Given the description of an element on the screen output the (x, y) to click on. 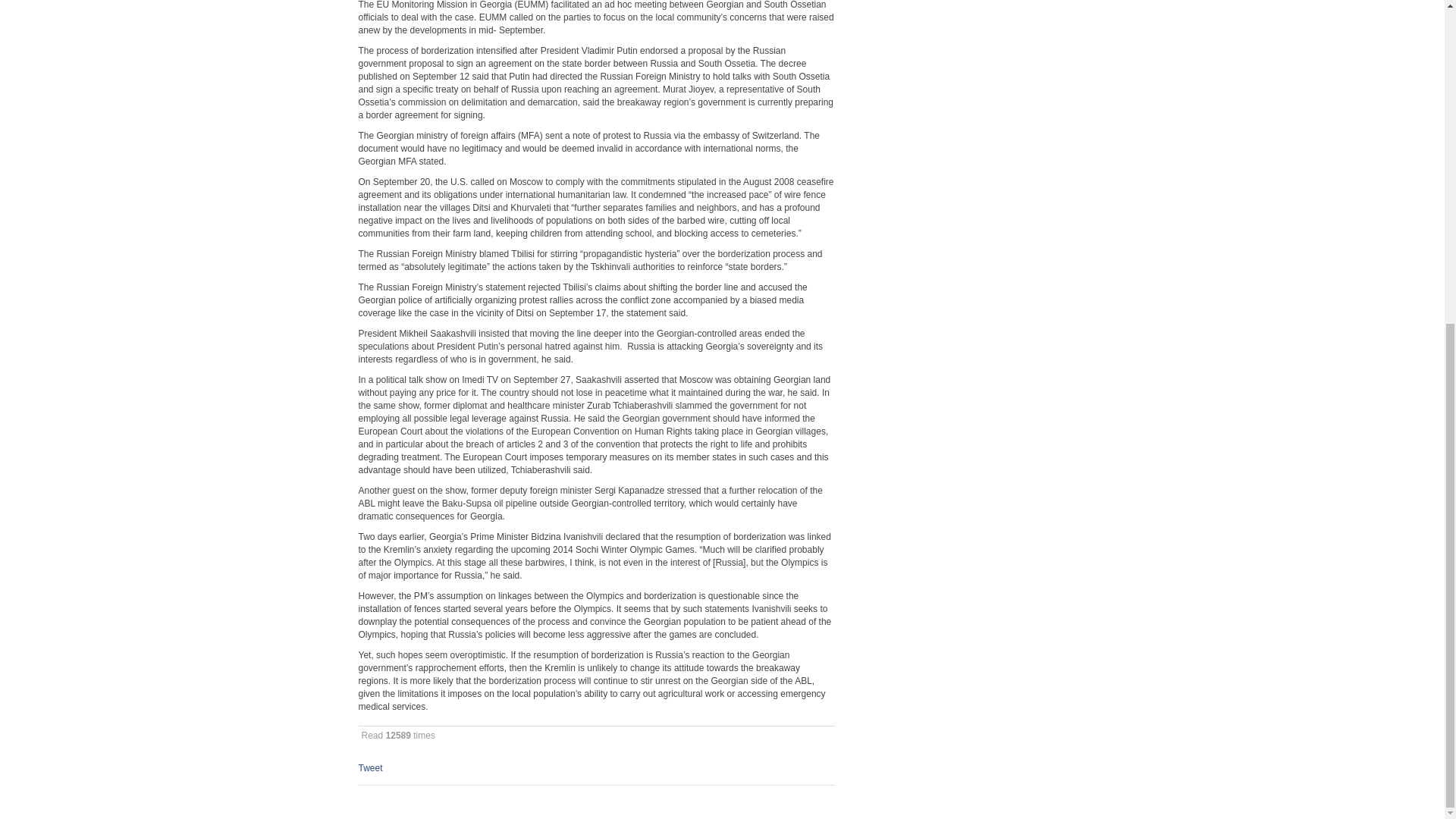
Tweet (369, 767)
